Given the description of an element on the screen output the (x, y) to click on. 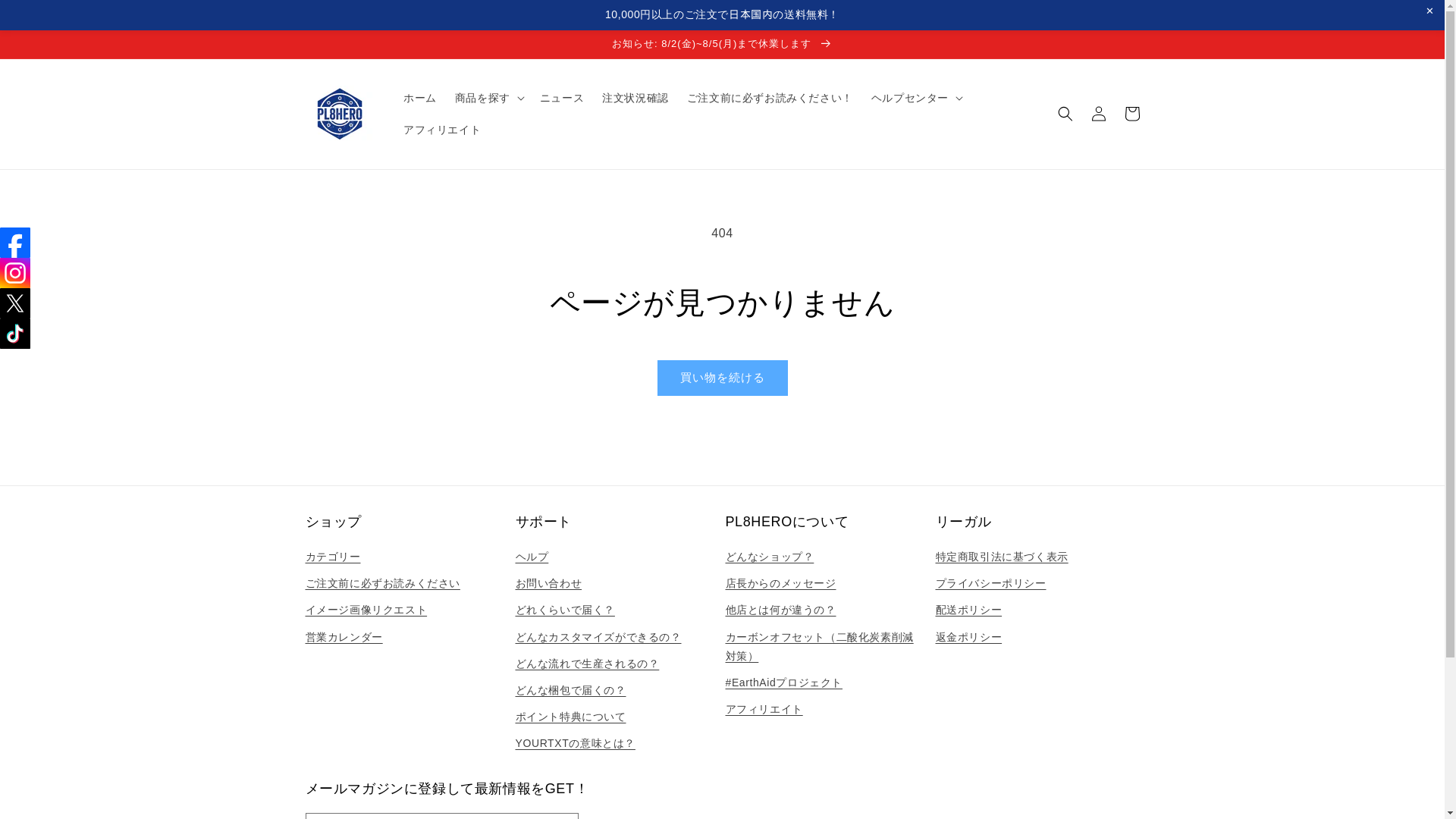
Facebook (15, 242)
Twitter (15, 303)
Instagram (15, 272)
TikTok (15, 333)
